Given the description of an element on the screen output the (x, y) to click on. 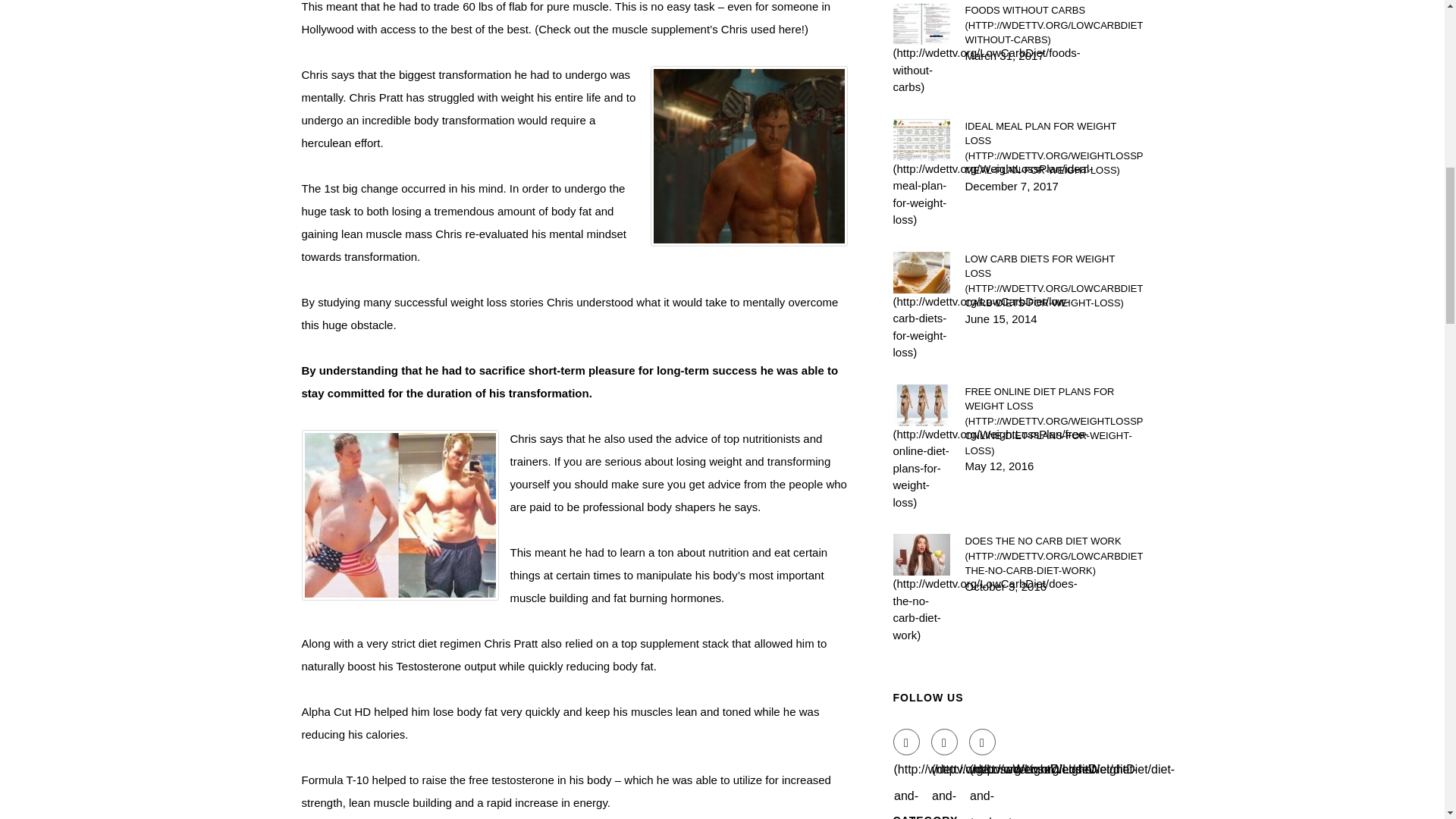
Twitter (944, 741)
LOW CARB DIETS FOR WEIGHT LOSS (1052, 281)
DOES THE NO CARB DIET WORK (1052, 555)
IDEAL MEAL PLAN FOR WEIGHT LOSS (1052, 147)
FREE ONLINE DIET PLANS FOR WEIGHT LOSS (1052, 420)
FOODS WITHOUT CARBS (1052, 25)
Google Plus (982, 741)
Facebook (906, 741)
